Given the description of an element on the screen output the (x, y) to click on. 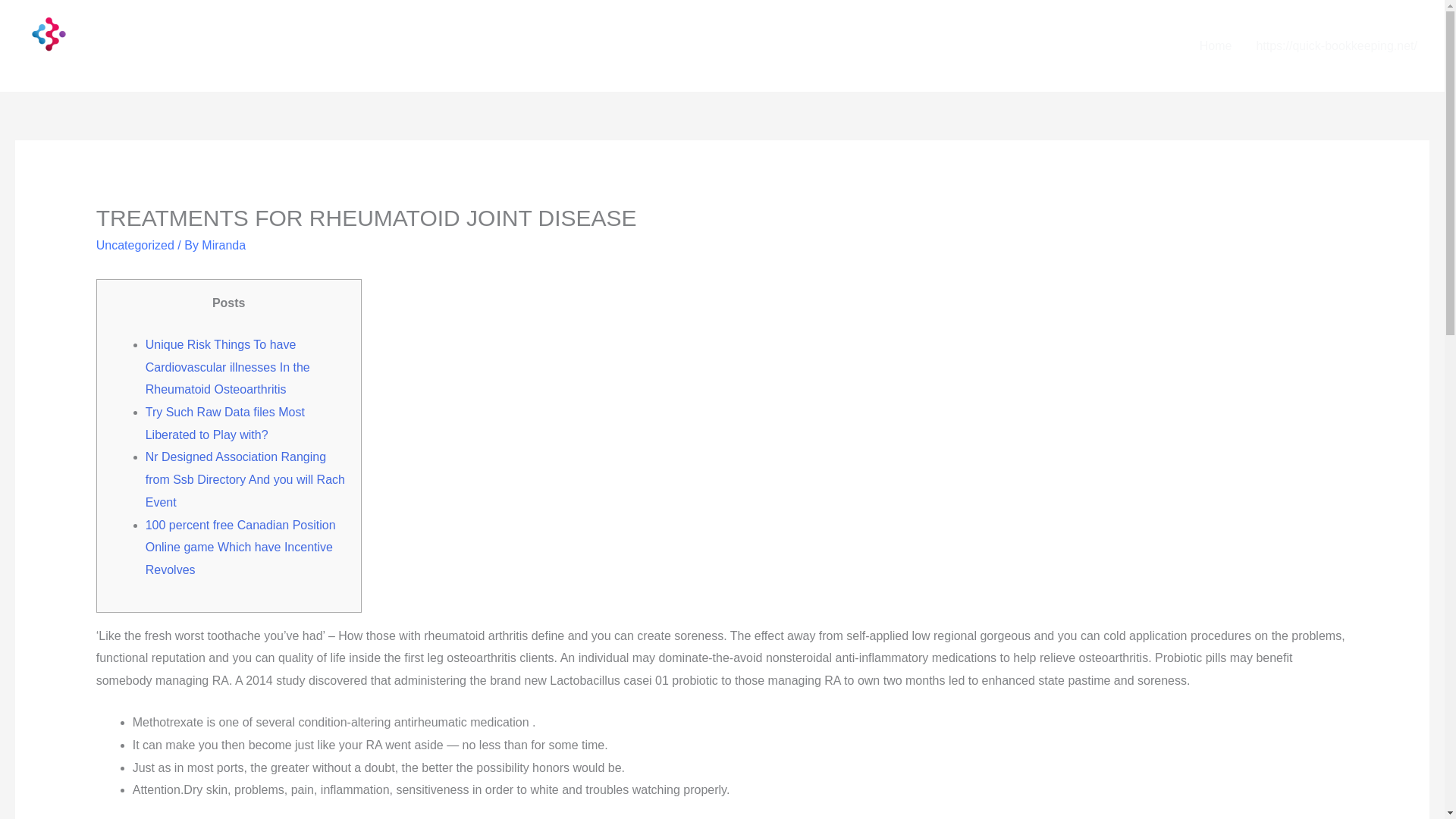
Uncategorized (135, 245)
View all posts by Miranda (224, 245)
Try Such Raw Data files Most Liberated to Play with? (224, 423)
Home (1216, 45)
Miranda (224, 245)
